Given the description of an element on the screen output the (x, y) to click on. 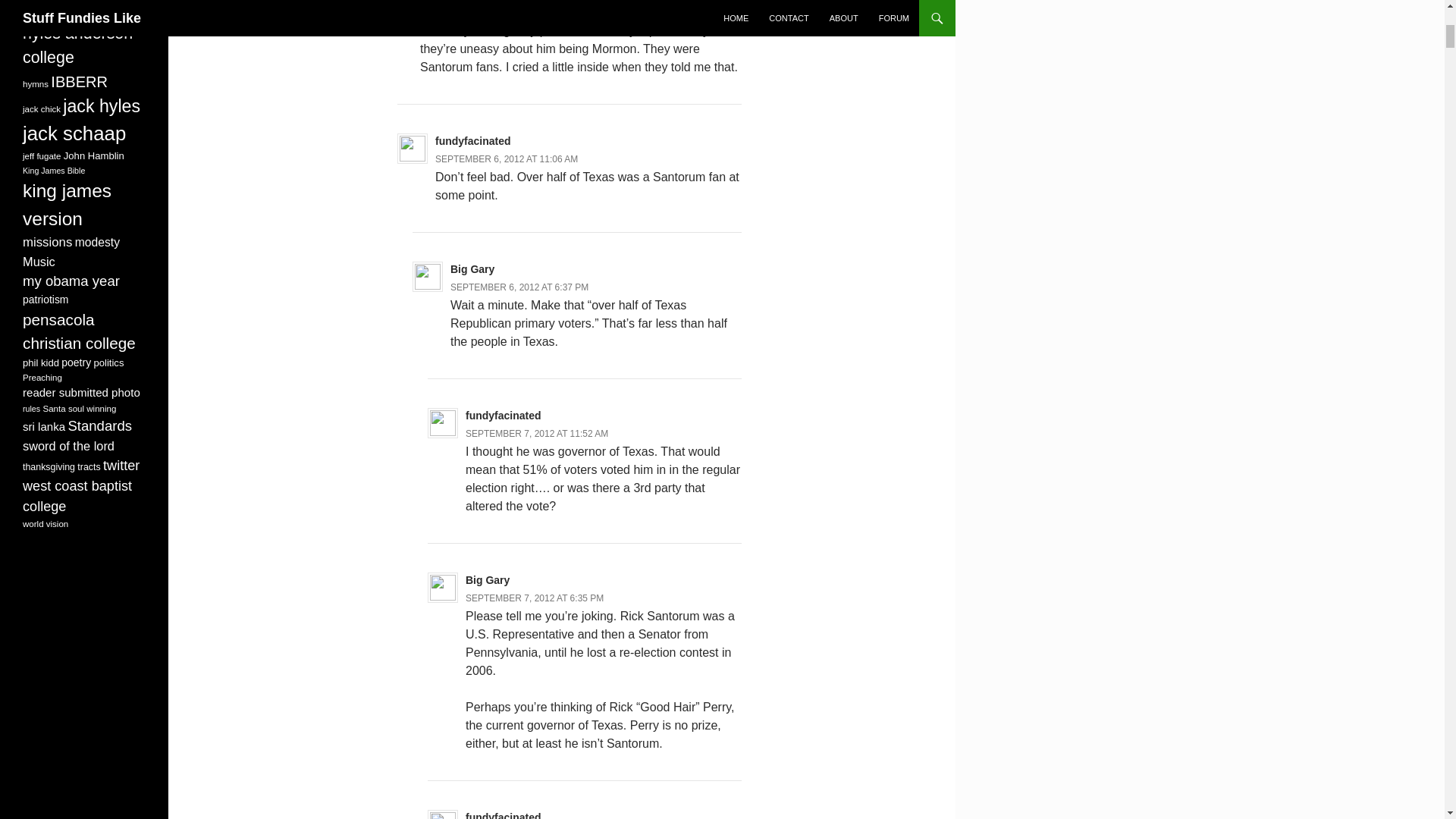
SEPTEMBER 6, 2012 AT 6:37 PM (518, 286)
SEPTEMBER 6, 2012 AT 9:17 AM (488, 12)
SEPTEMBER 6, 2012 AT 11:06 AM (506, 158)
SEPTEMBER 7, 2012 AT 11:52 AM (536, 433)
SEPTEMBER 7, 2012 AT 6:35 PM (534, 597)
Dani Kelley (448, 0)
